Given the description of an element on the screen output the (x, y) to click on. 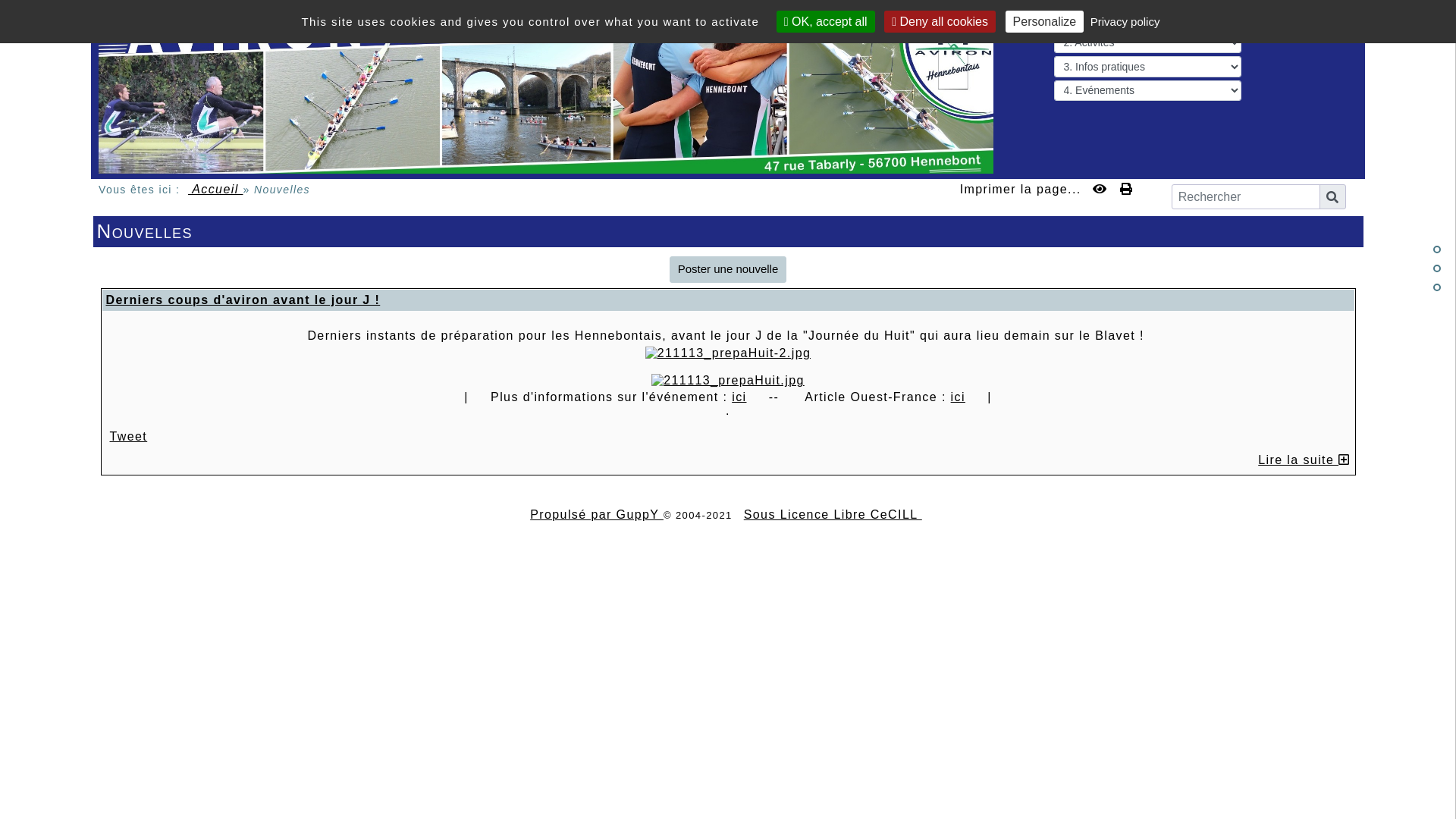
Agrandir Element type: hover (727, 380)
Haut Element type: hover (1436, 249)
Tweet Element type: text (128, 435)
OK, accept all Element type: text (825, 21)
Deny all cookies Element type: text (939, 21)
ici Element type: text (957, 396)
ici Element type: text (738, 396)
Poster une nouvelle Element type: text (728, 269)
Sous Licence Libre CeCILL Element type: text (832, 514)
Personalize Element type: text (1044, 21)
Imprimer... Element type: hover (1126, 188)
Accueil Element type: text (215, 188)
Derniers coups d'aviron avant le jour J ! Element type: text (243, 299)
Menu Element type: hover (1333, 19)
Milieu Element type: hover (1436, 268)
Agrandir Element type: hover (728, 353)
Bas Element type: hover (1436, 287)
Privacy policy Element type: text (1125, 21)
Lire la suite Element type: text (1303, 459)
Recherche Element type: hover (1332, 197)
